Given the description of an element on the screen output the (x, y) to click on. 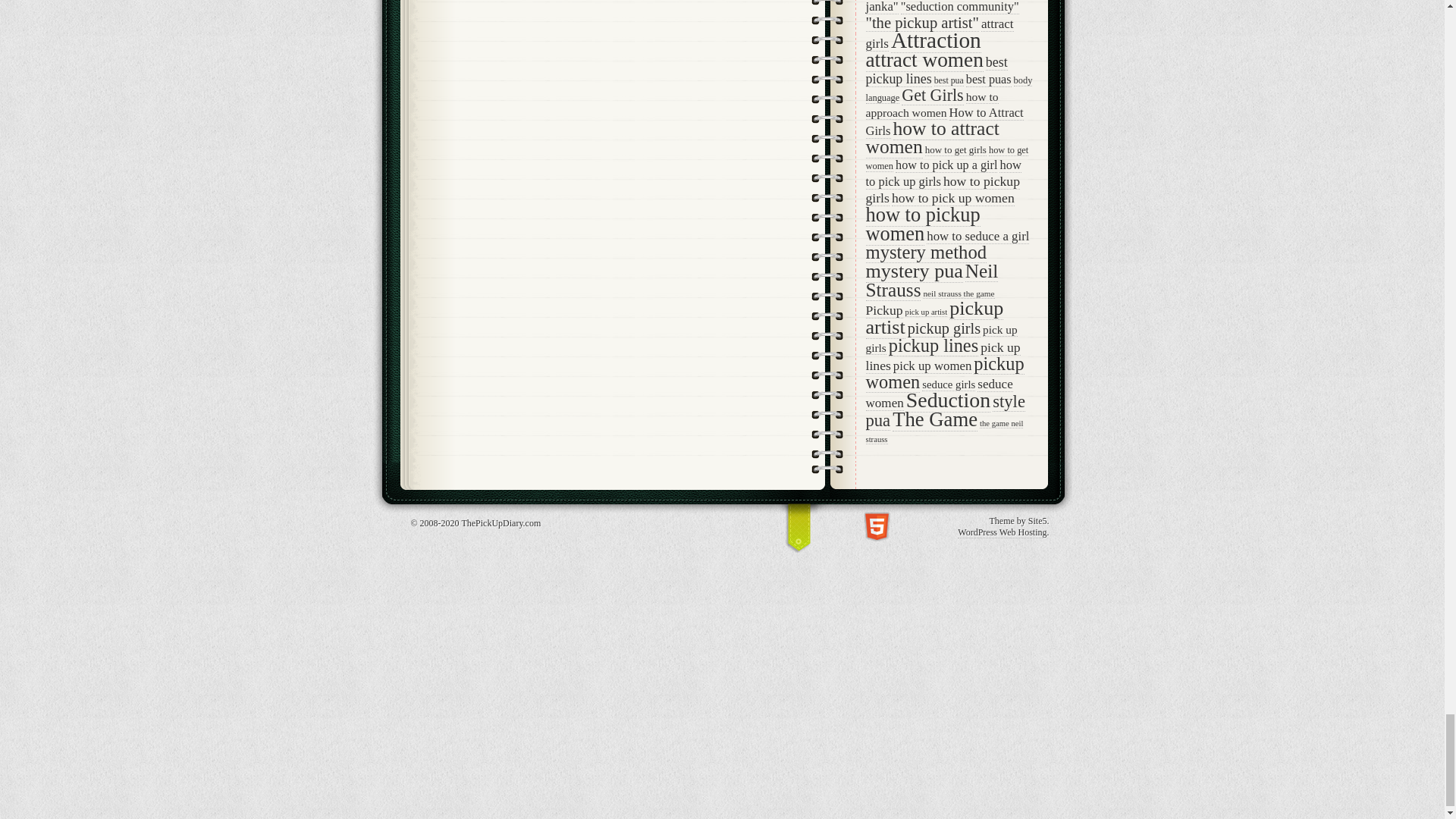
HTML5 Inside (876, 526)
HTML5 Inside (876, 524)
